Given the description of an element on the screen output the (x, y) to click on. 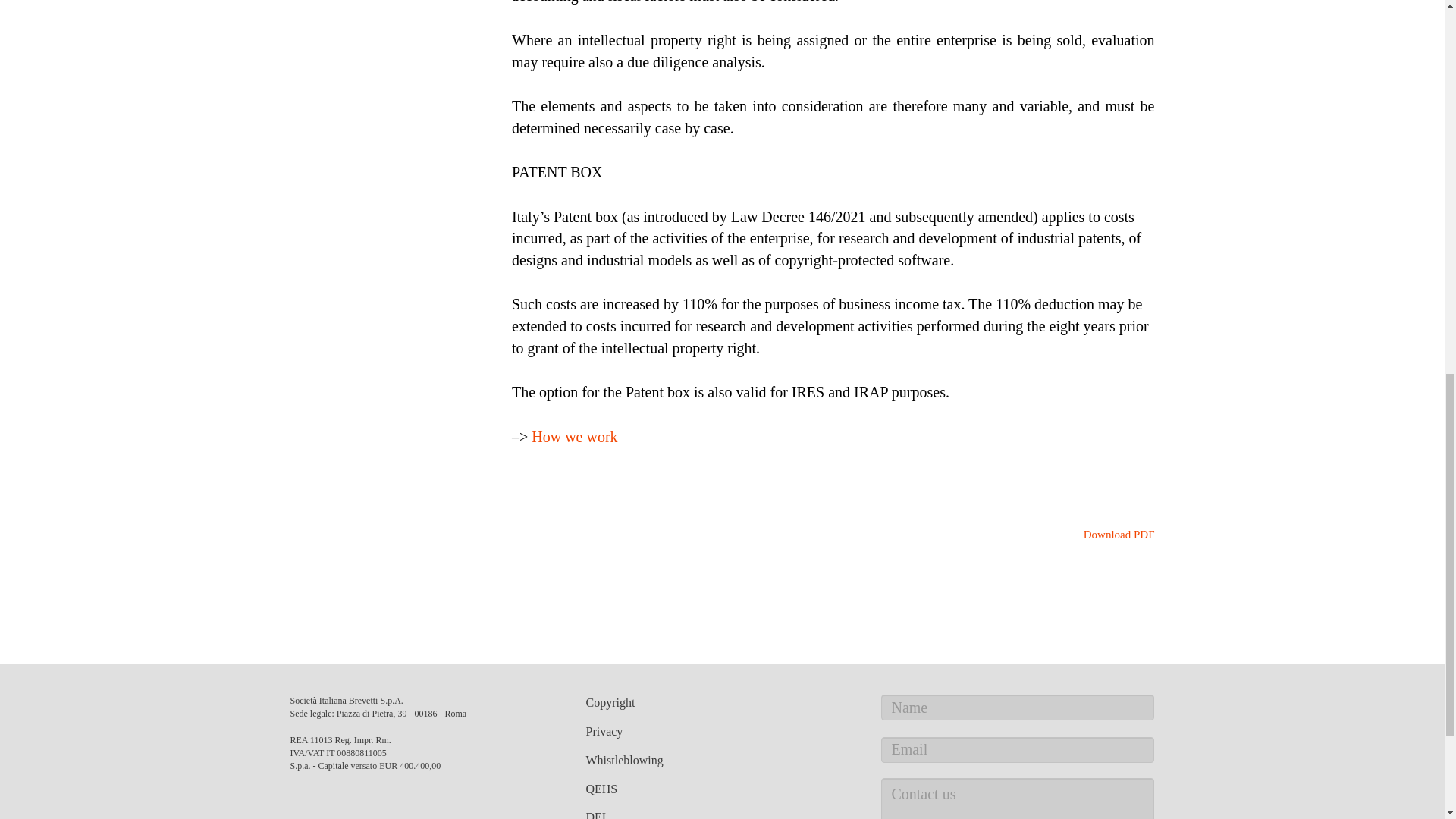
How we work (574, 436)
DEI (595, 814)
Privacy (604, 730)
QEHS (601, 788)
Whistleblowing (623, 759)
Copyright (609, 702)
Download PDF (1110, 534)
